Given the description of an element on the screen output the (x, y) to click on. 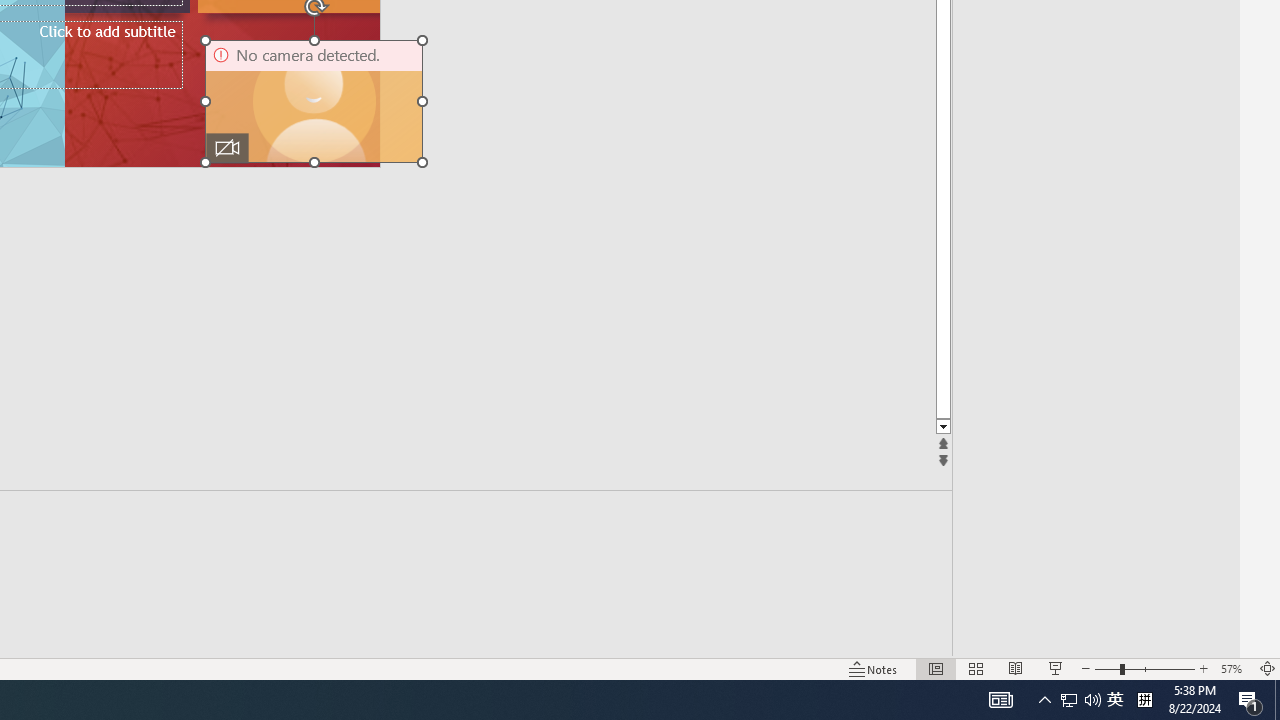
Camera 11, No camera detected. (313, 101)
Zoom 57% (1234, 668)
Camera 14, No camera detected. (313, 101)
